Given the description of an element on the screen output the (x, y) to click on. 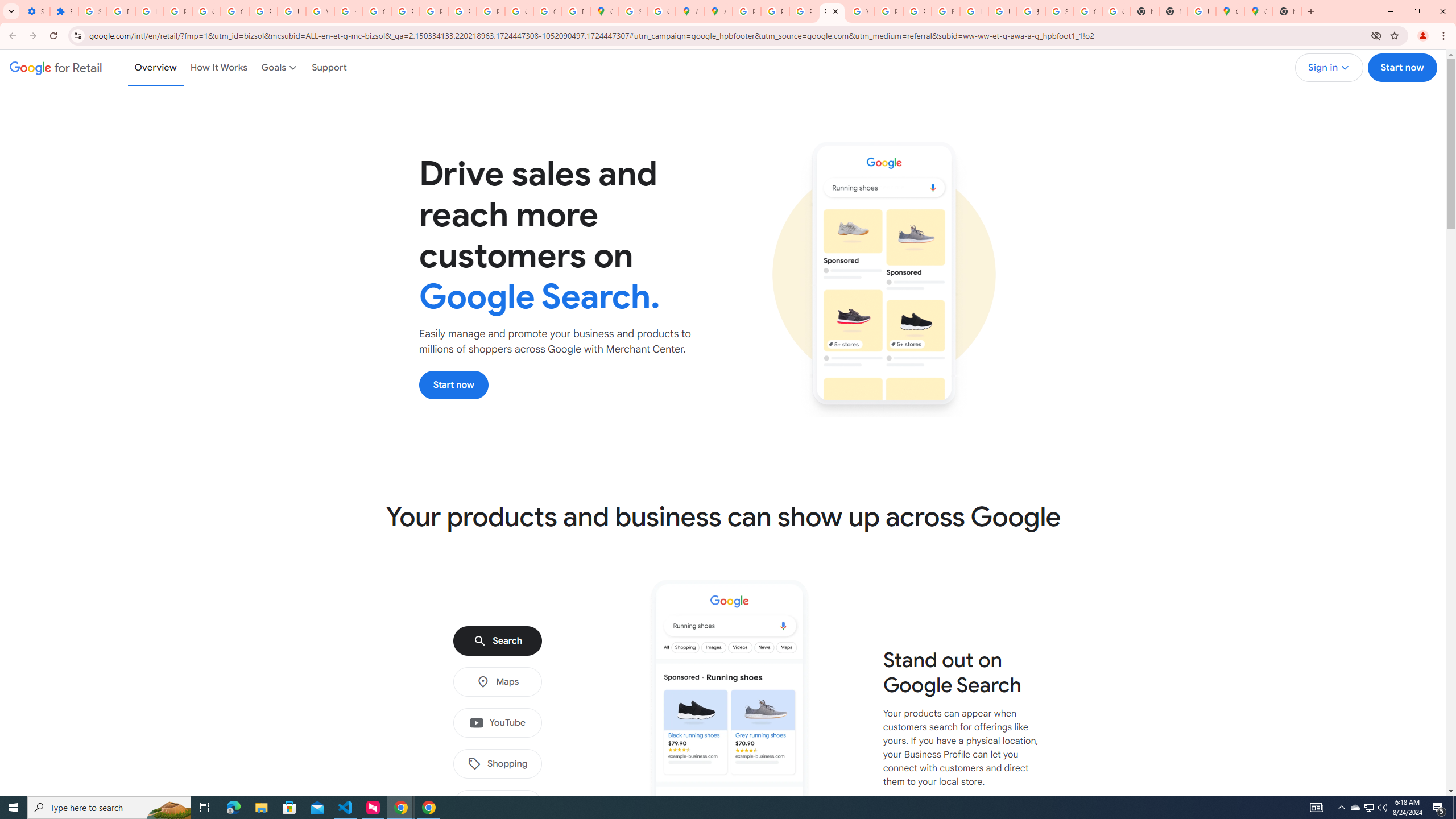
Google Maps (604, 11)
Create your Google Account (661, 11)
Goals (279, 67)
Google Maps (1230, 11)
Privacy Help Center - Policies Help (405, 11)
https://scholar.google.com/ (348, 11)
Delete photos & videos - Computer - Google Photos Help (120, 11)
